Given the description of an element on the screen output the (x, y) to click on. 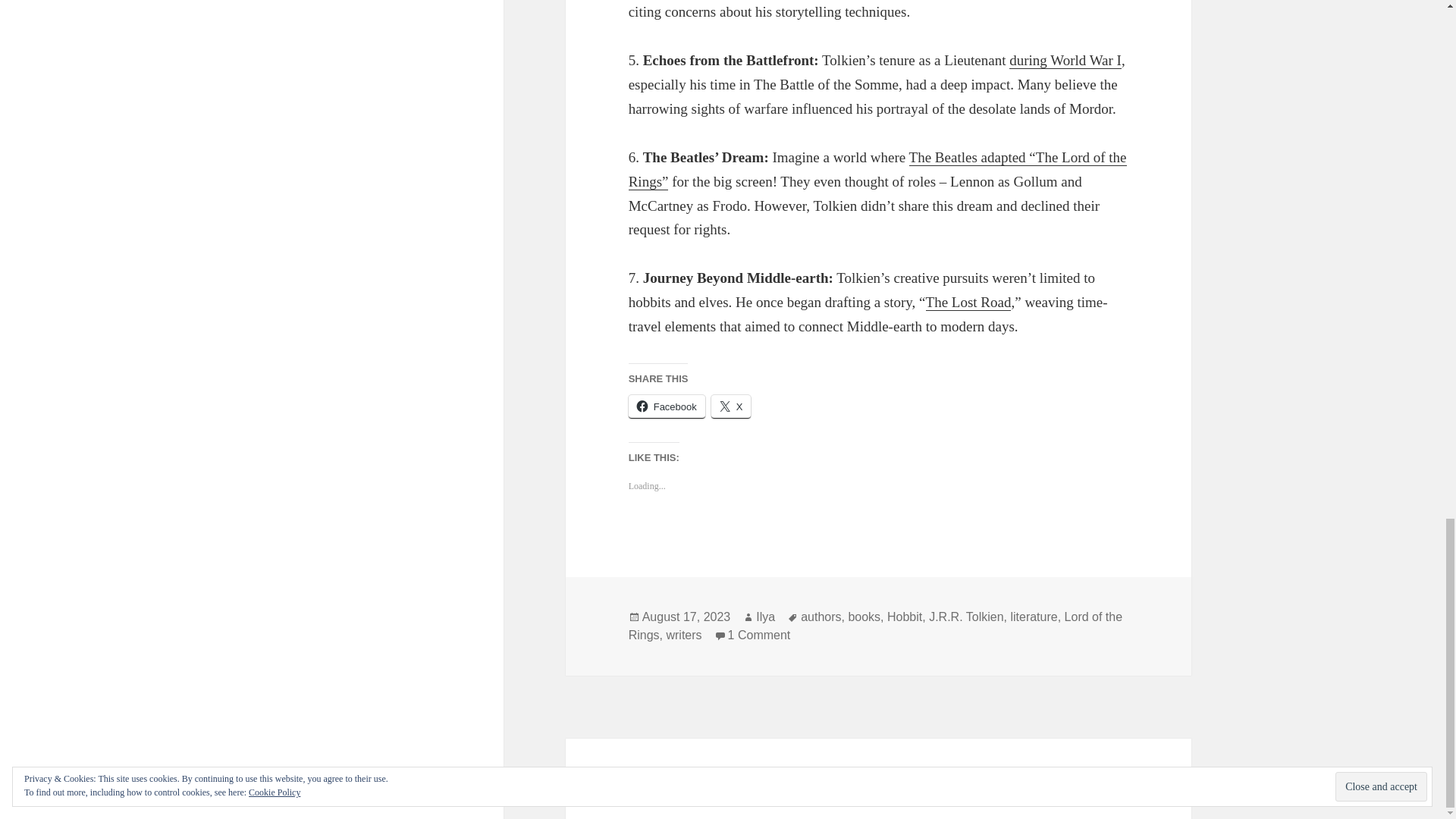
Click to share on X (731, 406)
Click to share on Facebook (666, 406)
